Given the description of an element on the screen output the (x, y) to click on. 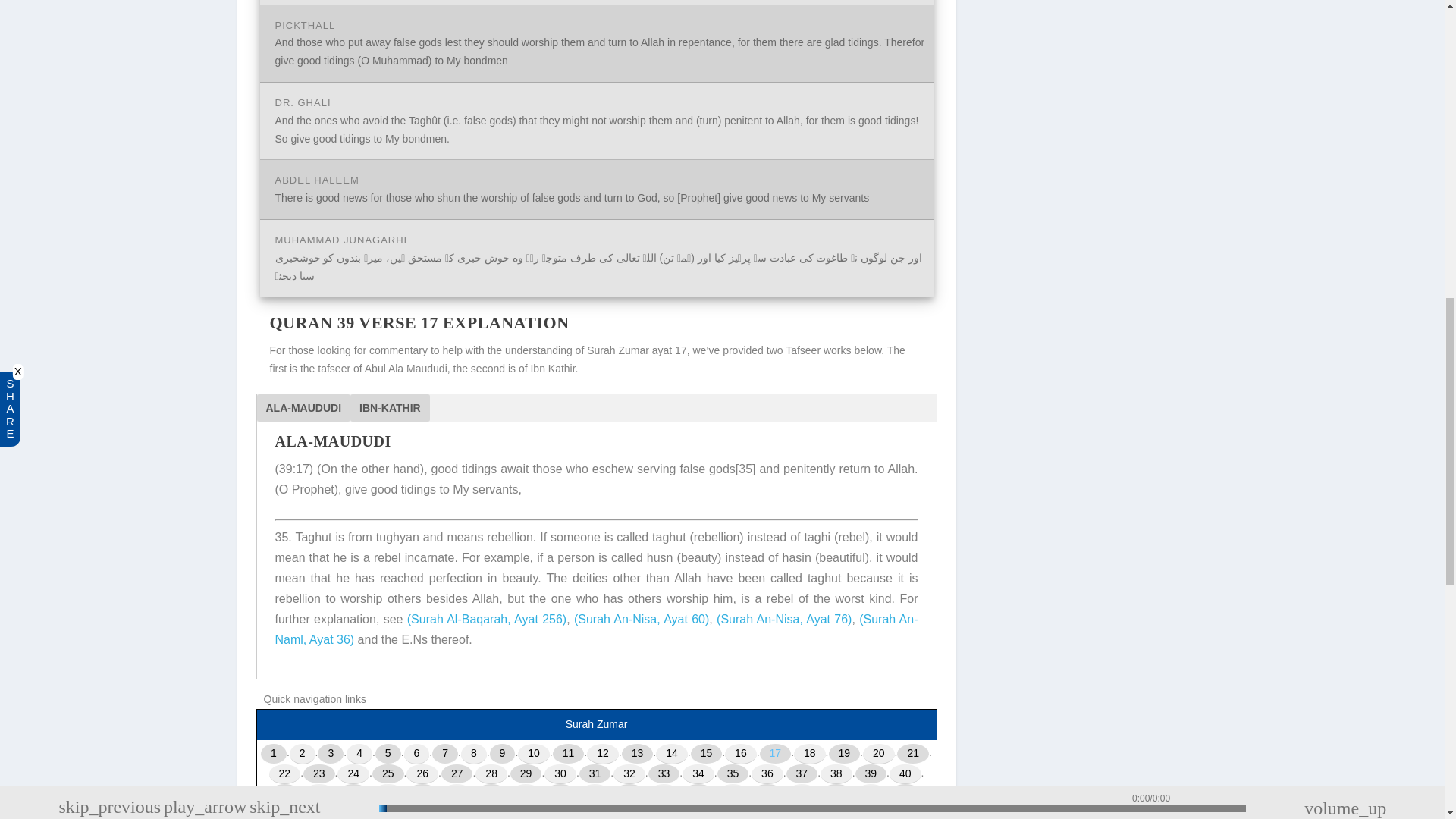
4 (359, 753)
7 (445, 753)
8 (473, 753)
ALA-MAUDUDI (303, 407)
5 (388, 753)
1 (273, 753)
IBN-KATHIR (389, 407)
3 (330, 753)
6 (416, 753)
2 (302, 753)
